Given the description of an element on the screen output the (x, y) to click on. 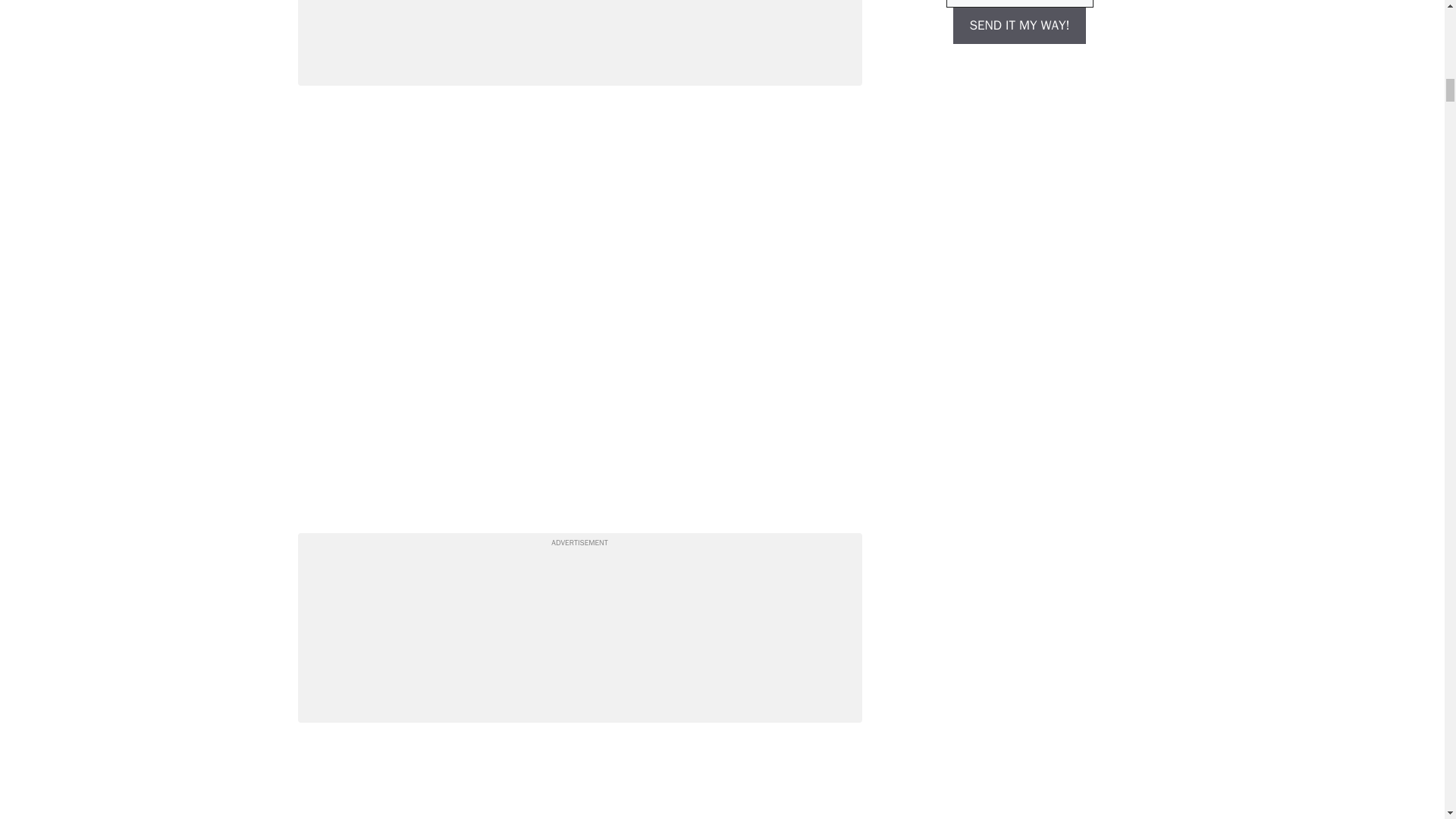
SEND IT MY WAY! (1018, 25)
